Given the description of an element on the screen output the (x, y) to click on. 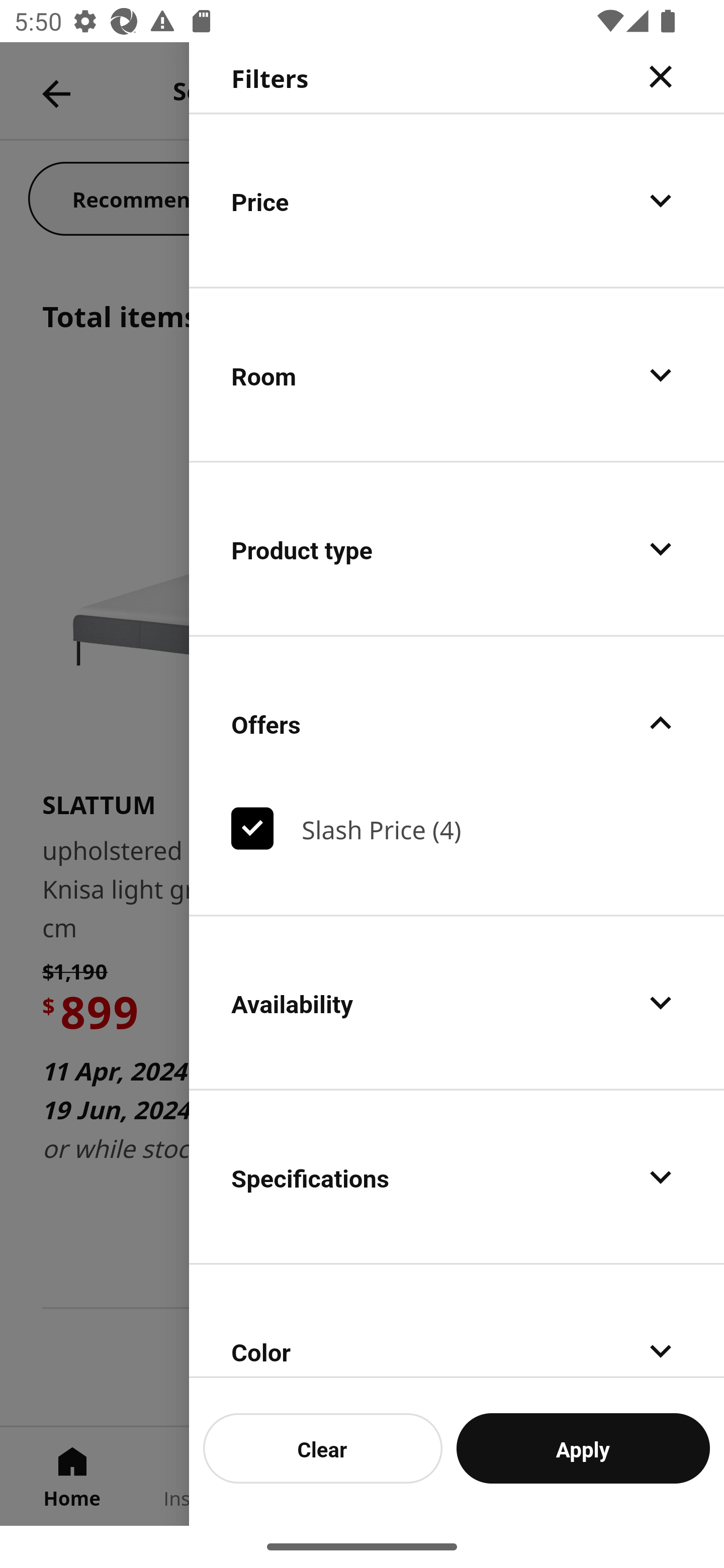
Price (456, 200)
Room (456, 374)
Product type (456, 548)
Offers (456, 722)
Slash Price (4) (456, 828)
Availability (456, 1002)
Specifications (456, 1176)
Color (456, 1321)
Clear (322, 1447)
Apply (583, 1447)
